Given the description of an element on the screen output the (x, y) to click on. 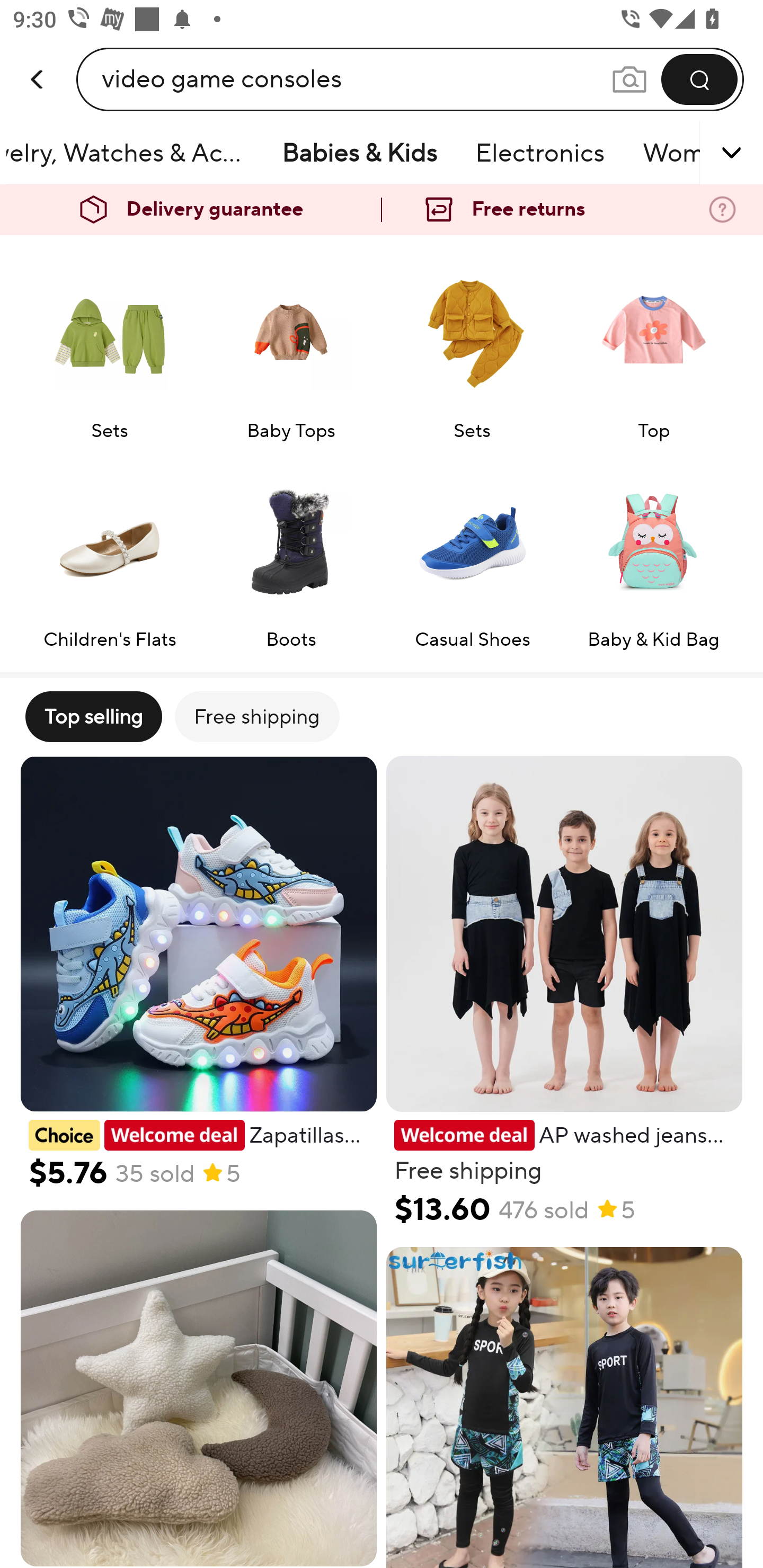
back  (38, 59)
video game consoles Search query (355, 79)
Jewelry, Watches & Accessories (134, 152)
Electronics (539, 152)
Women's Clothing (667, 152)
 (705, 152)
Delivery guarantee Free returns (381, 210)
Sets (109, 345)
Baby Tops (290, 345)
Sets (471, 345)
Top (653, 345)
Children's Flats (109, 554)
Boots (290, 554)
Casual Shoes (471, 554)
Baby & Kid Bag (653, 554)
Top selling (93, 716)
Free shipping (256, 716)
